Given the description of an element on the screen output the (x, y) to click on. 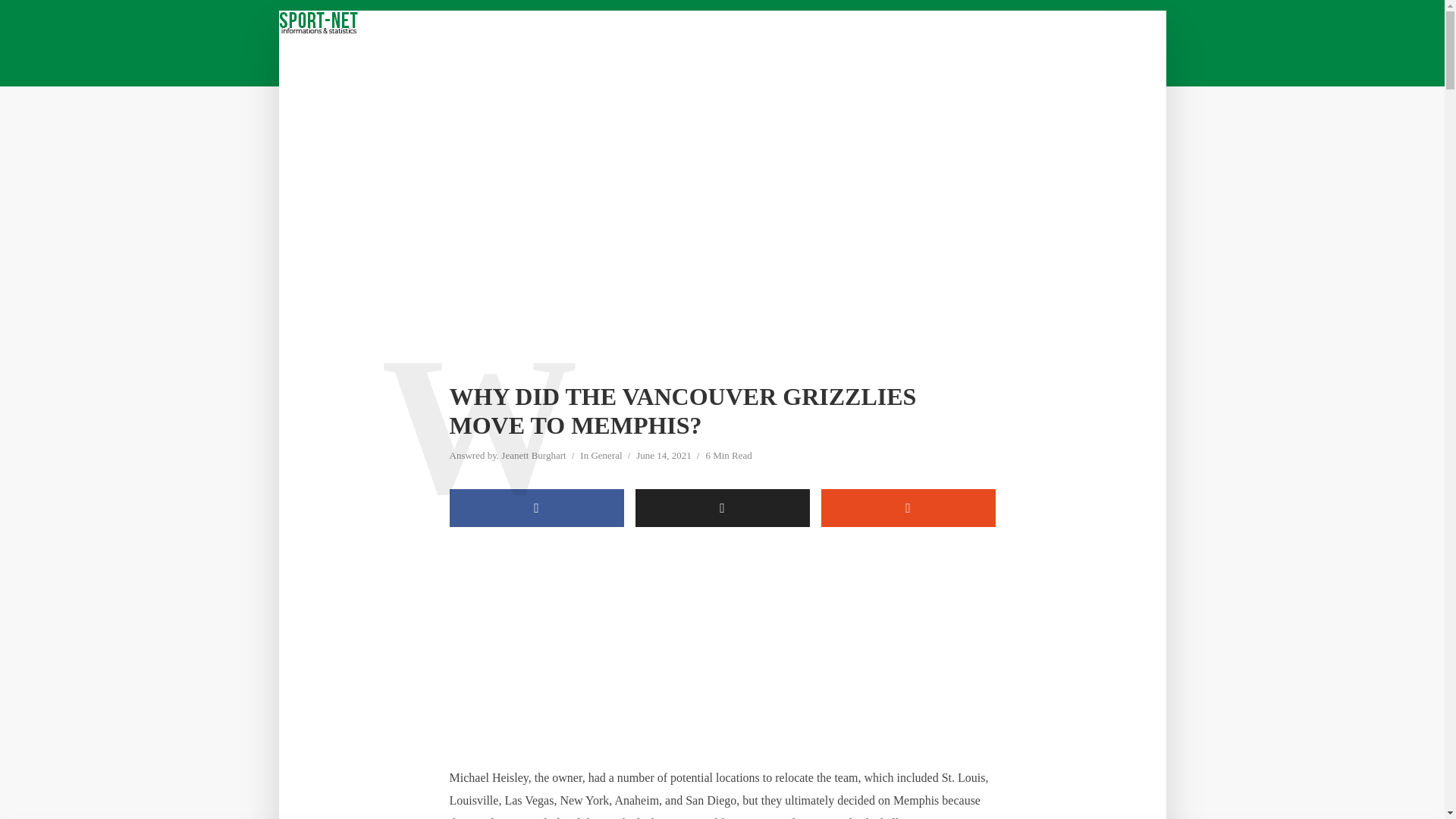
Advertisement (721, 653)
General (606, 456)
Jeanett Burghart (533, 456)
